Given the description of an element on the screen output the (x, y) to click on. 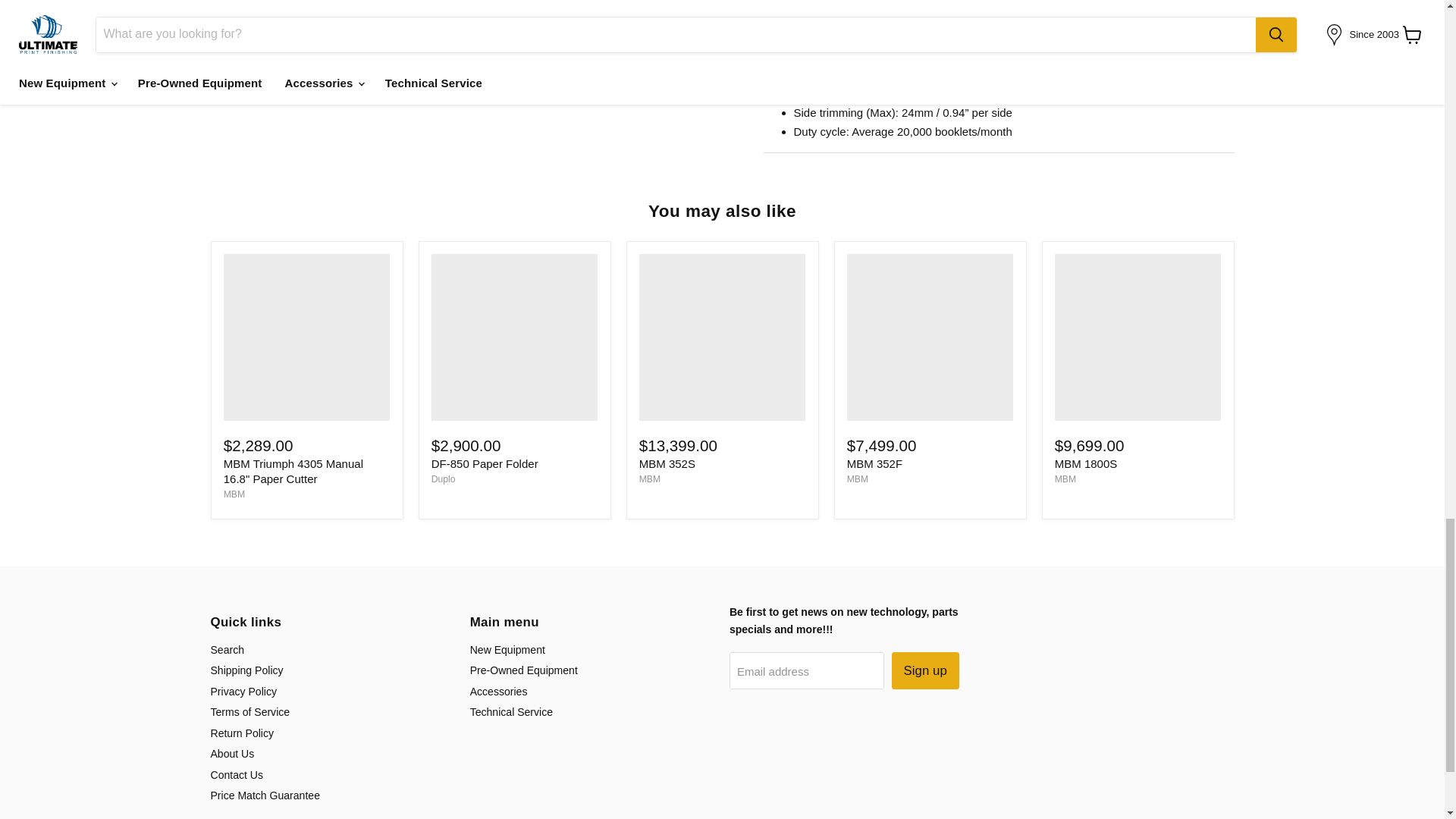
MBM (1064, 479)
MBM (857, 479)
MBM (234, 493)
Duplo (442, 479)
MBM (650, 479)
